Given the description of an element on the screen output the (x, y) to click on. 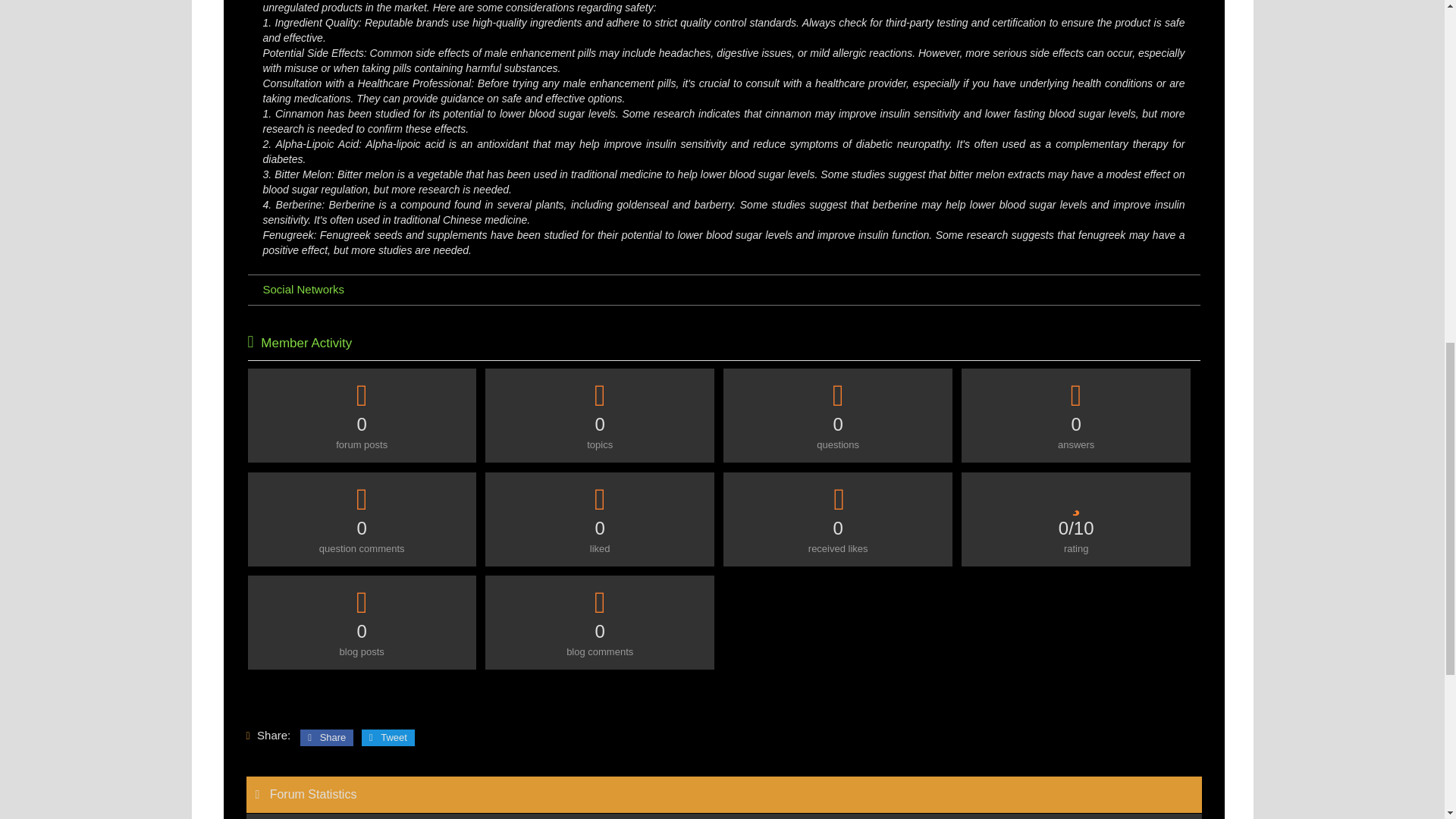
potential to lower blood sugar levels (708, 234)
guidance on safe and effective (514, 98)
more serious side effects (1025, 52)
Social Networks (723, 290)
